Given the description of an element on the screen output the (x, y) to click on. 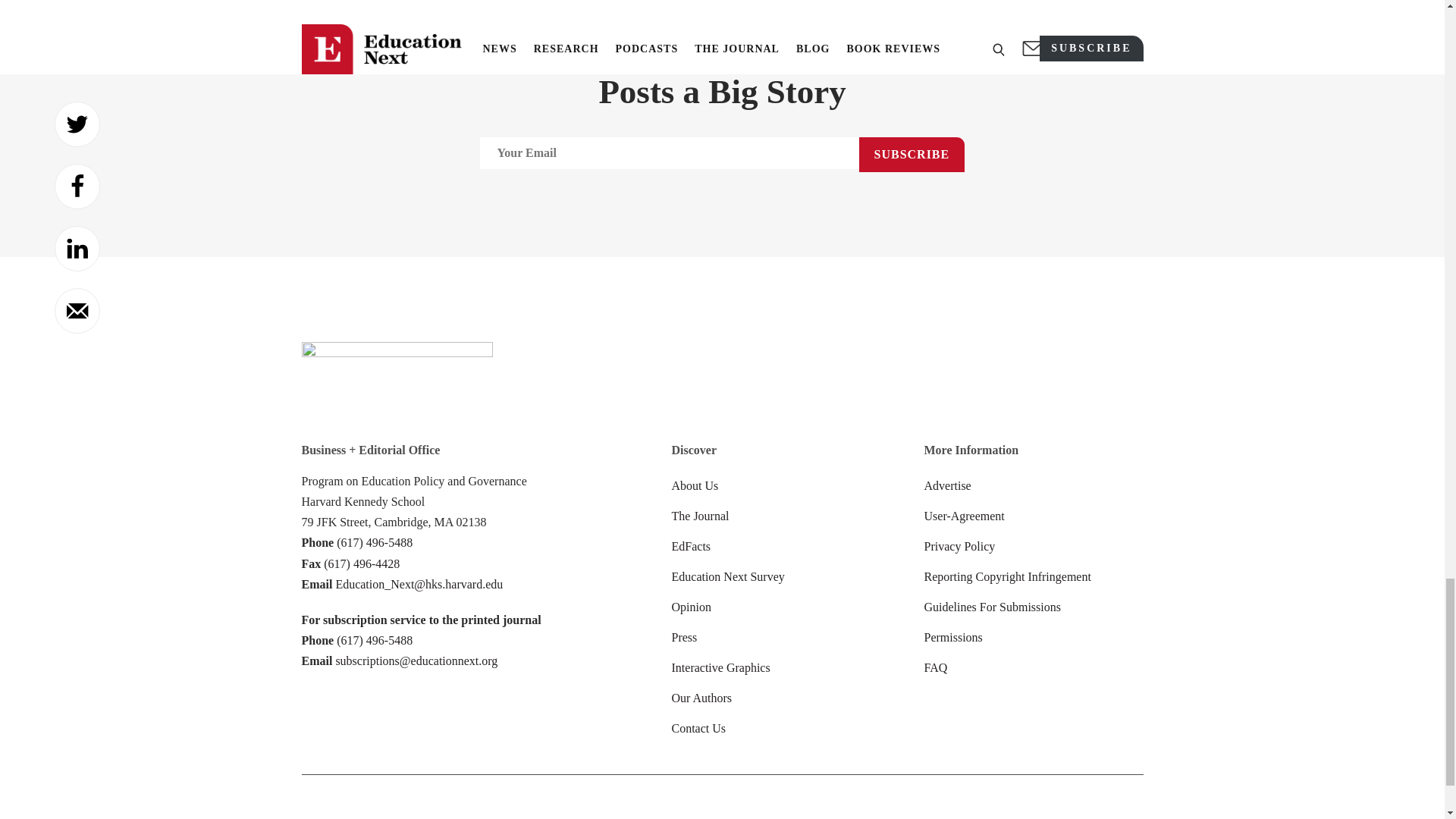
SUBSCRIBE (911, 154)
